Given the description of an element on the screen output the (x, y) to click on. 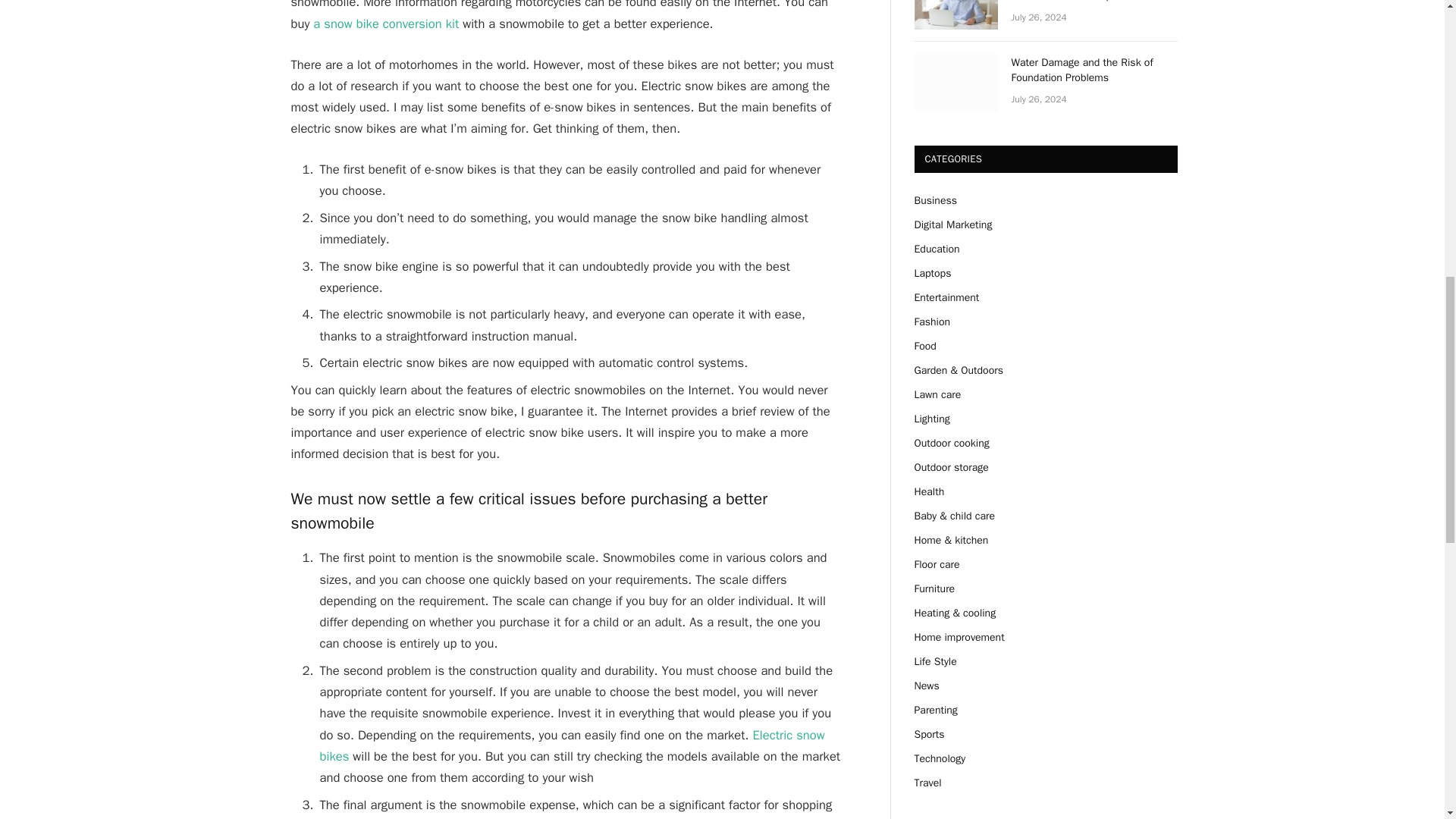
Water Damage and the Risk of Foundation Problems (955, 82)
a snow bike conversion kit (385, 23)
Electric snow bikes (572, 745)
